Given the description of an element on the screen output the (x, y) to click on. 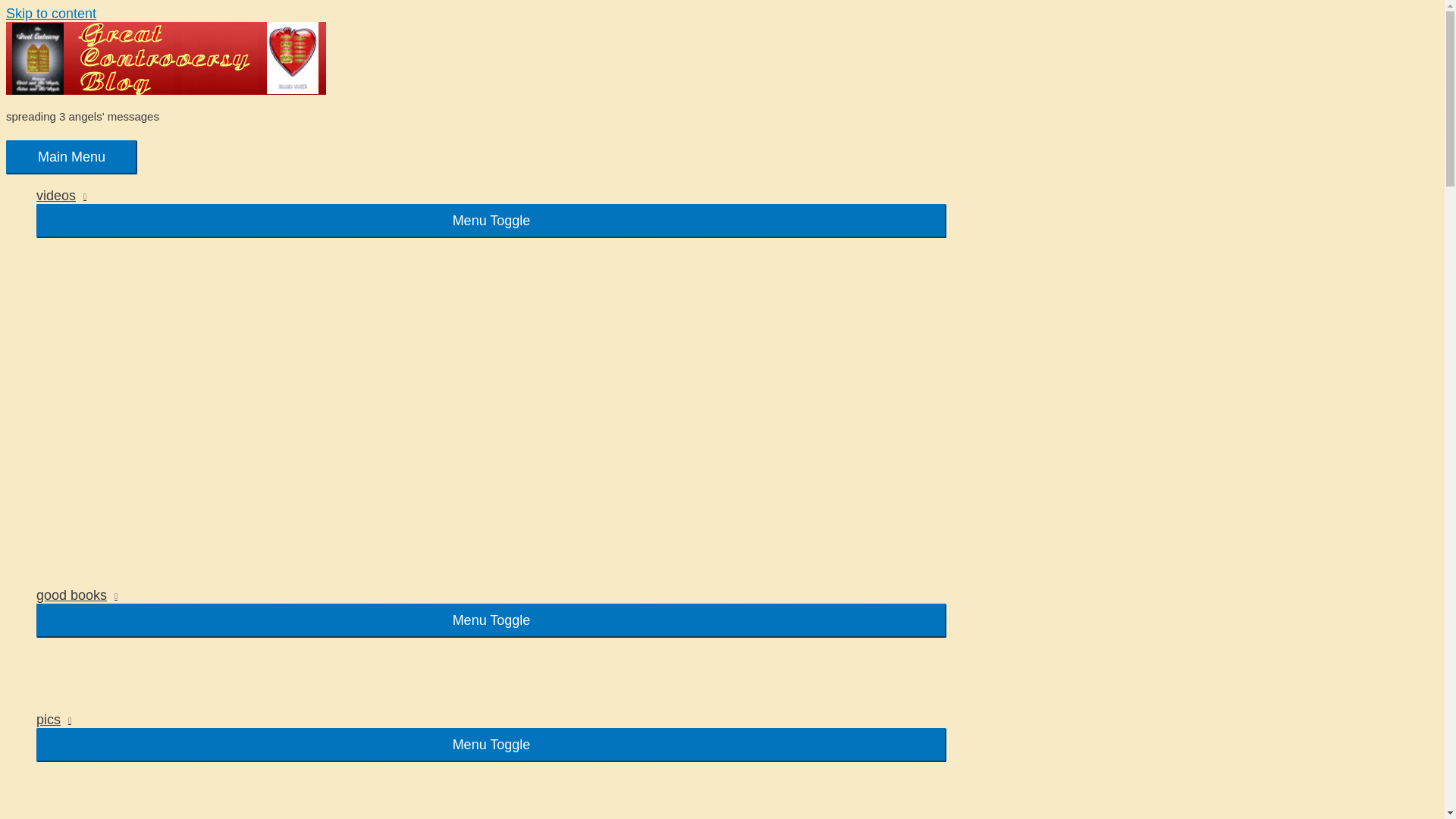
videos (491, 195)
Skip to content (50, 13)
Menu Toggle (491, 220)
Skip to content (50, 13)
good books (491, 595)
Main Menu (70, 157)
Menu Toggle (491, 620)
Menu Toggle (491, 745)
pics (491, 719)
